Given the description of an element on the screen output the (x, y) to click on. 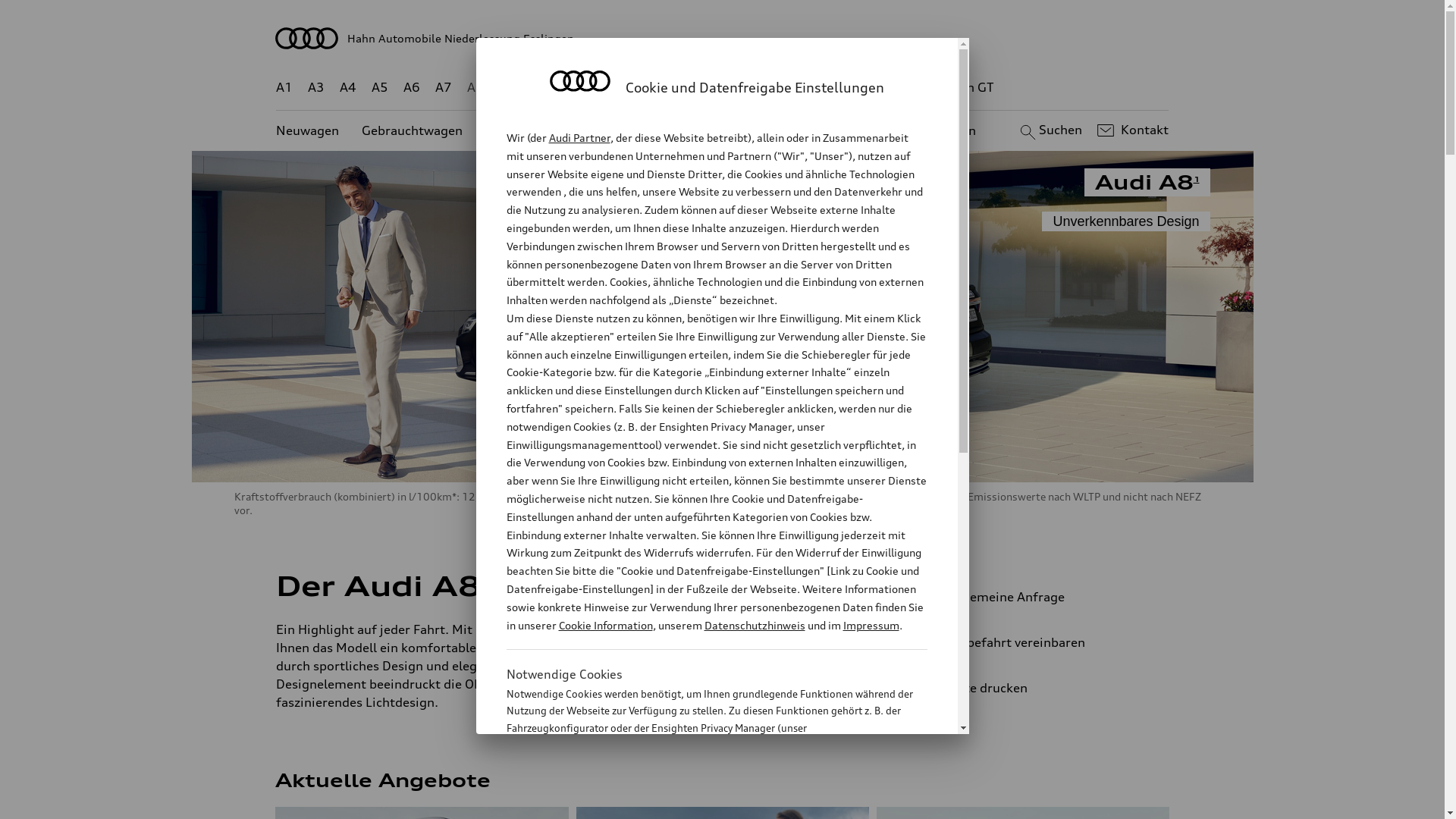
1 Element type: text (483, 582)
Cookie Information Element type: text (700, 802)
g-tron Element type: text (903, 87)
Q2 Element type: text (507, 87)
A6 Element type: text (411, 87)
A1 Element type: text (284, 87)
Suchen Element type: text (1049, 130)
A3 Element type: text (315, 87)
A5 Element type: text (379, 87)
Cookie Information Element type: text (605, 624)
1 Element type: text (1196, 178)
Angebote Element type: text (636, 130)
TT Element type: text (814, 87)
Probefahrt vereinbaren Element type: text (1038, 642)
Q4 e-tron Element type: text (592, 87)
Gebrauchtwagen Element type: text (411, 130)
A8 Element type: text (475, 87)
Q8 Element type: text (710, 87)
Hahn Automobile Niederlassung Esslingen Element type: text (722, 38)
RS Element type: text (861, 87)
e-tron GT Element type: text (965, 87)
Seite drucken Element type: text (1044, 687)
Q5 Element type: text (645, 87)
A4 Element type: text (347, 87)
Q8 e-tron Element type: text (763, 87)
Q7 Element type: text (678, 87)
Neuwagen Element type: text (307, 130)
Datenschutzhinweis Element type: text (753, 624)
Impressum Element type: text (871, 624)
Kundenservice Element type: text (730, 130)
Allgemeine Anfrage Element type: text (1038, 596)
A7 Element type: text (443, 87)
Kontakt Element type: text (1130, 130)
Audi Partner Element type: text (579, 137)
Q3 Element type: text (540, 87)
